Given the description of an element on the screen output the (x, y) to click on. 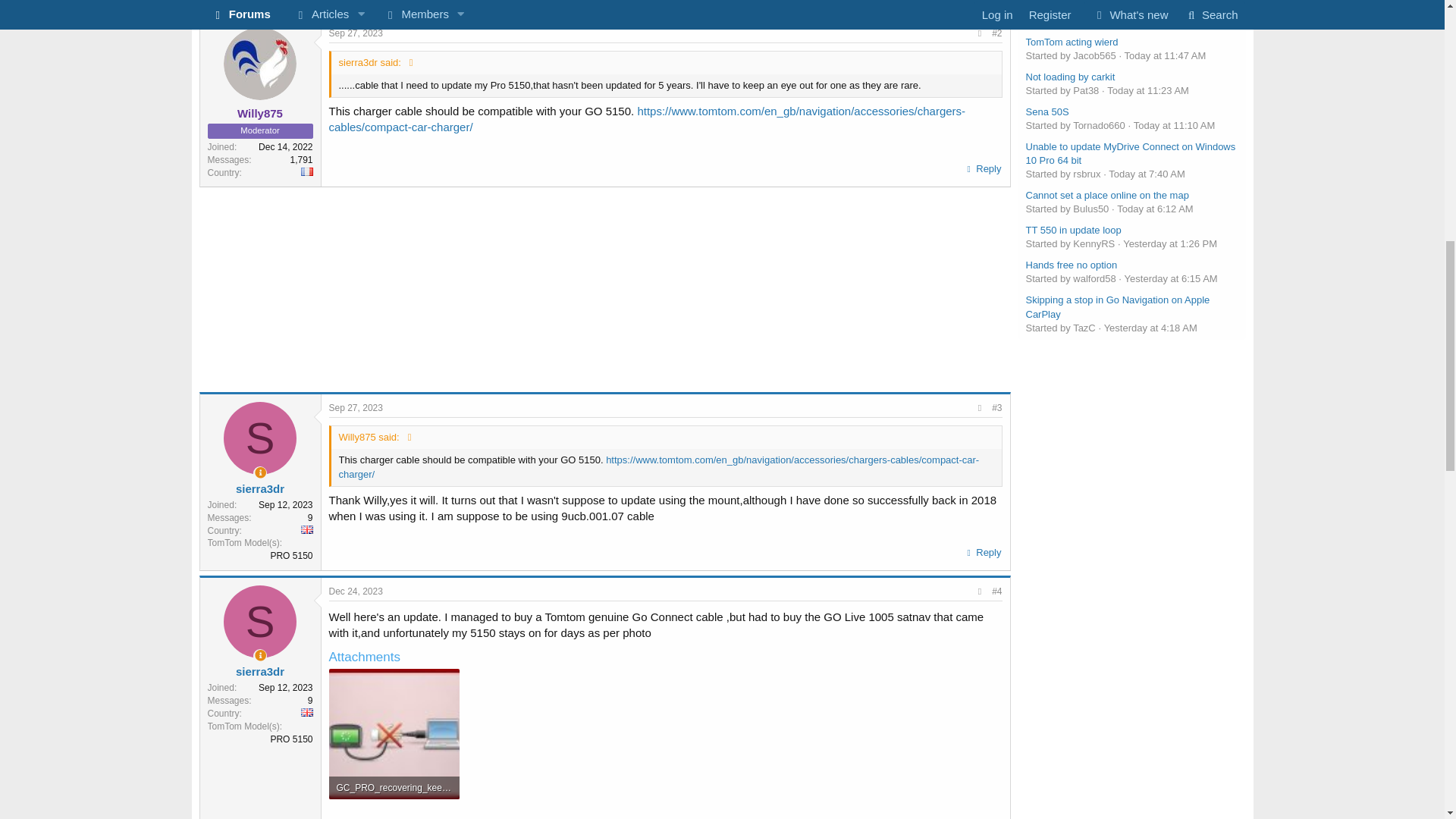
Reply, quoting this message (982, 552)
Sep 27, 2023 at 12:24 PM (355, 32)
Sep 27, 2023 at 4:05 PM (355, 407)
Dec 24, 2023 at 9:46 AM (355, 591)
Thread Starter (260, 655)
Willy875 (259, 113)
Thread Starter (260, 472)
Reply, quoting this message (982, 168)
